Given the description of an element on the screen output the (x, y) to click on. 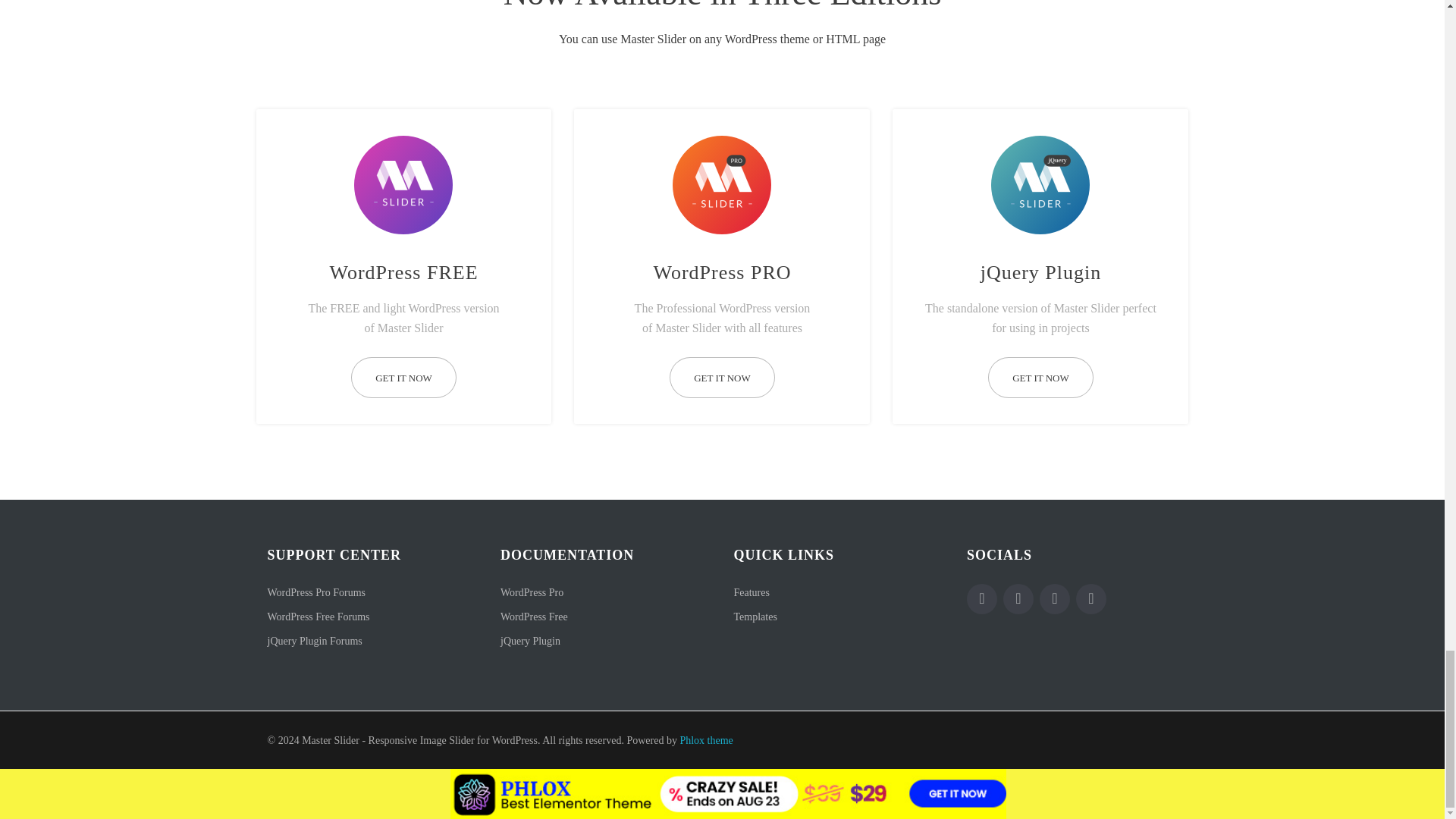
Logo-e2 (722, 181)
GET IT NOW (721, 377)
GET IT NOW (403, 377)
Facebook (981, 598)
Logo-e1 (403, 181)
Logo-e3 (1040, 181)
GET IT NOW (1040, 377)
WordPress (1090, 598)
YouTube (1054, 598)
Twitter (1018, 598)
